Given the description of an element on the screen output the (x, y) to click on. 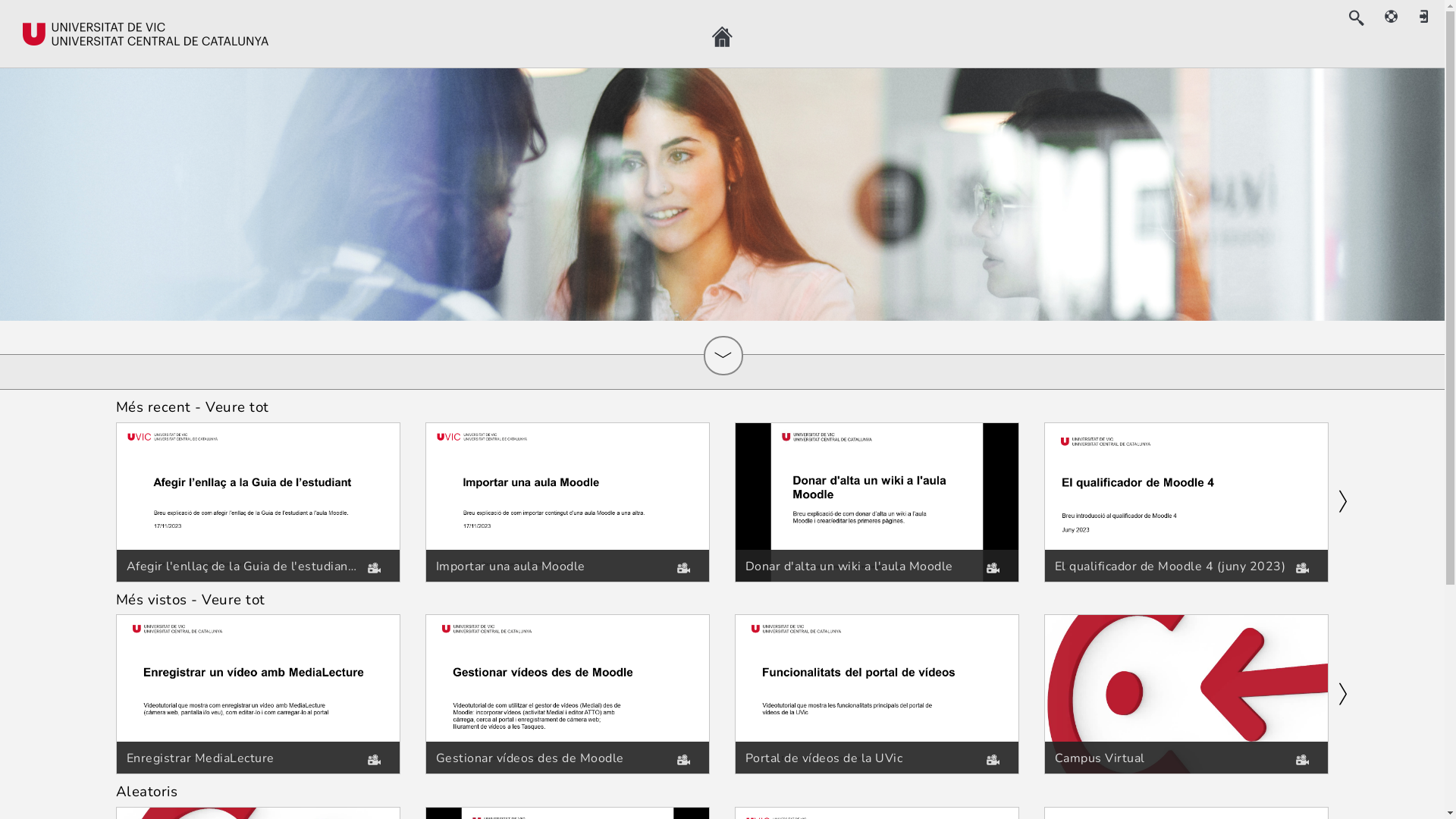
Categories Element type: hover (722, 355)
Cerca Element type: hover (1355, 18)
Ajuda Element type: hover (1391, 16)
Inici Element type: hover (721, 37)
Veure tot Element type: text (237, 407)
Veure tot Element type: text (233, 599)
